Given the description of an element on the screen output the (x, y) to click on. 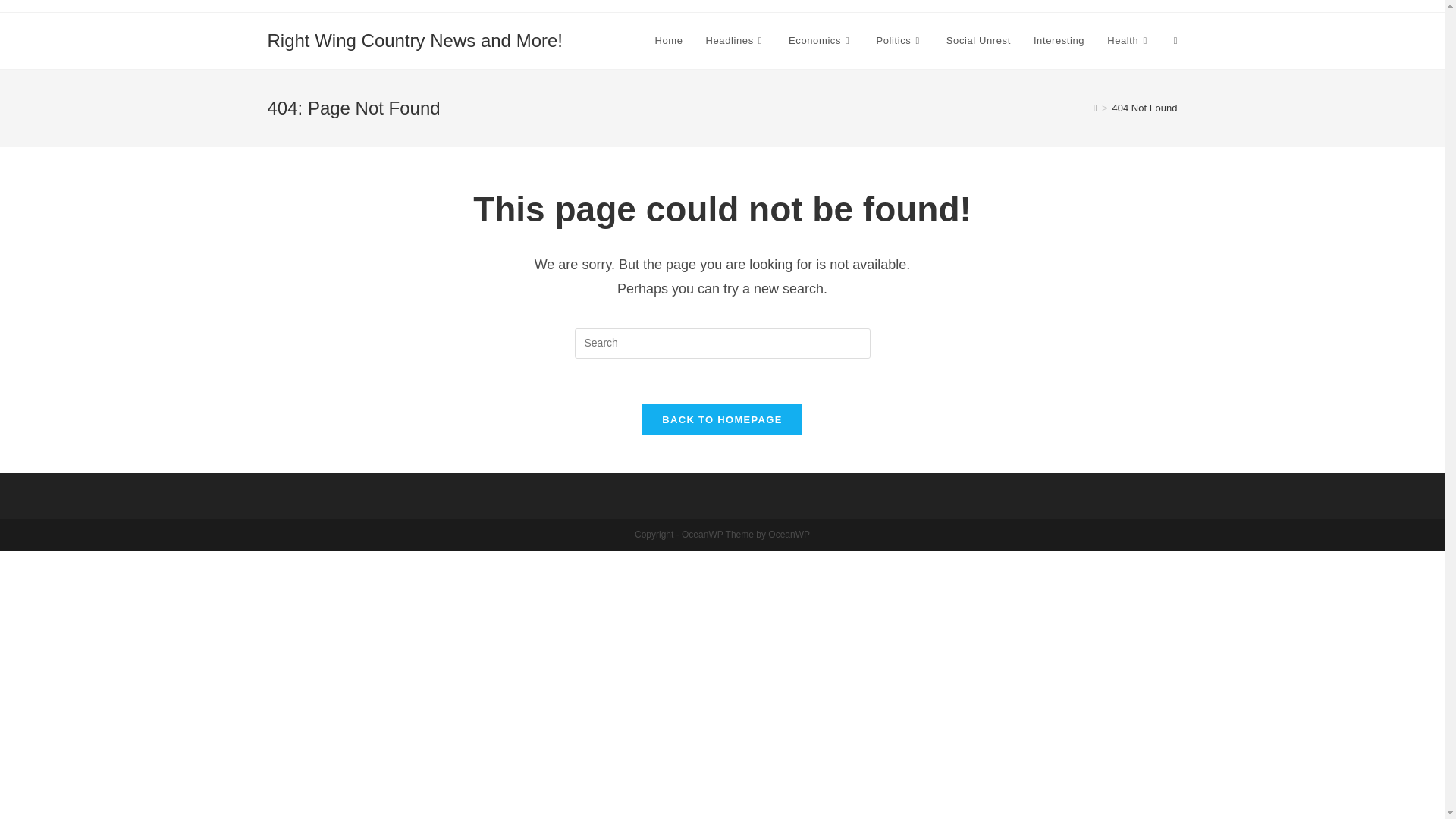
Interesting (1059, 40)
Social Unrest (978, 40)
Economics (820, 40)
Headlines (735, 40)
Politics (899, 40)
Home (668, 40)
Health (1128, 40)
404 Not Found (1144, 107)
Right Wing Country News and More! (414, 40)
BACK TO HOMEPAGE (722, 419)
